Given the description of an element on the screen output the (x, y) to click on. 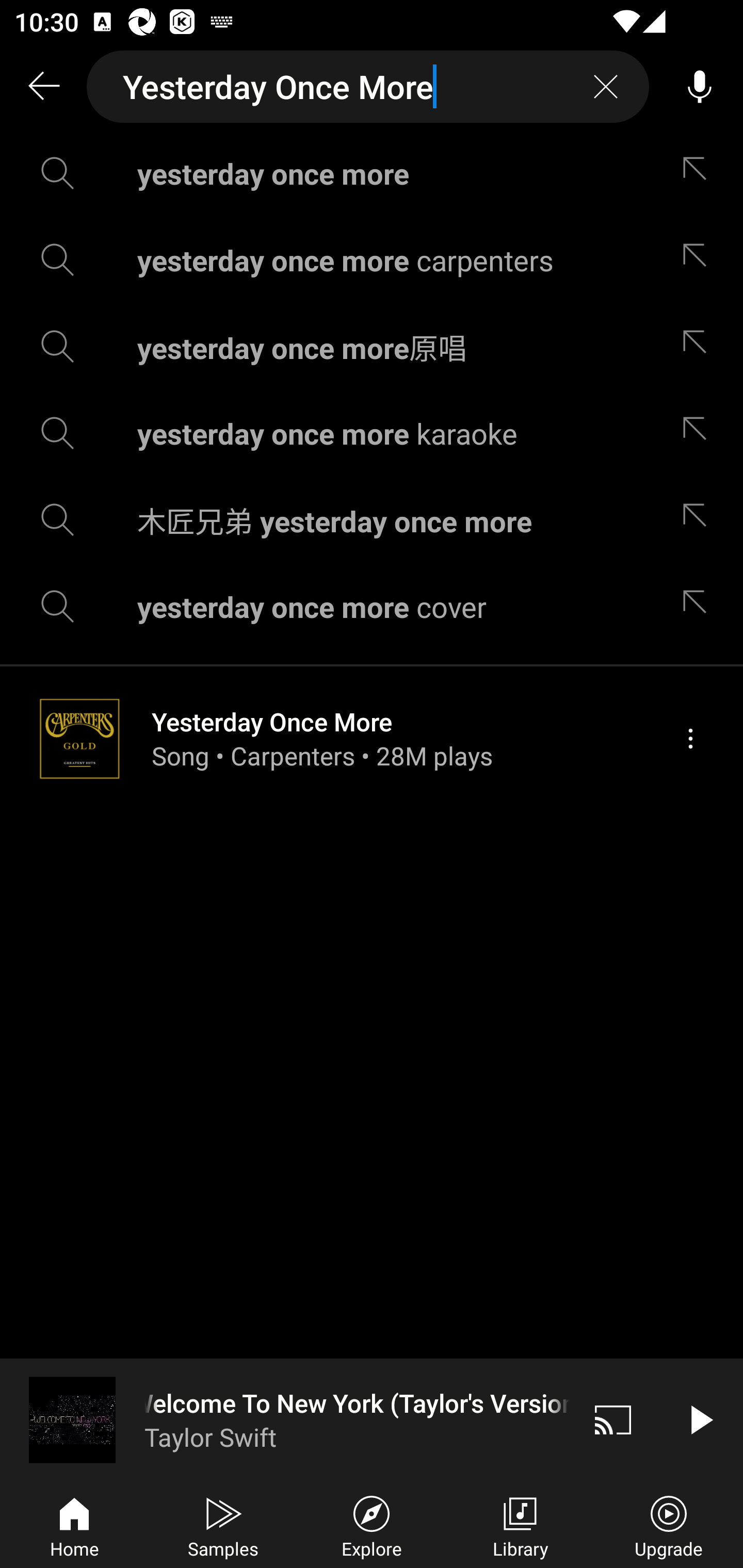
Search back (43, 86)
Yesterday Once More (367, 86)
Clear search (605, 86)
Voice search (699, 86)
Edit suggestion yesterday once more (699, 173)
Edit suggestion yesterday once more carpenters (699, 259)
Edit suggestion yesterday once more原唱 (699, 346)
Edit suggestion yesterday once more karaoke (699, 433)
Edit suggestion 木匠兄弟 yesterday once more (699, 519)
Edit suggestion yesterday once more cover (699, 605)
Menu (690, 738)
Cast. Disconnected (612, 1419)
Play video (699, 1419)
Home (74, 1524)
Samples (222, 1524)
Explore (371, 1524)
Library (519, 1524)
Upgrade (668, 1524)
